Given the description of an element on the screen output the (x, y) to click on. 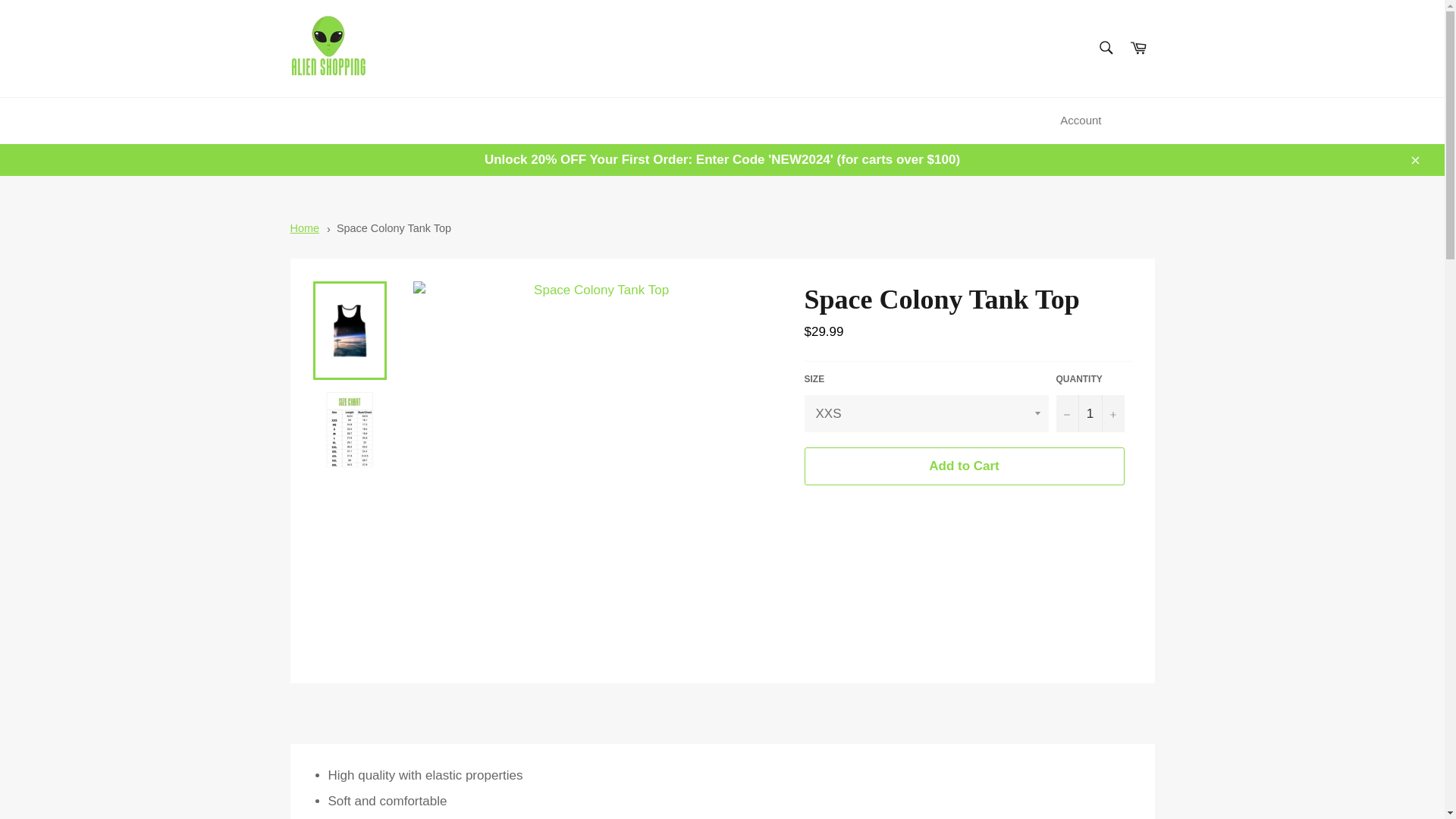
Search (1104, 47)
Account (1080, 120)
Home (303, 227)
1 (1089, 413)
Add to Cart (963, 465)
Close (1414, 159)
Home (303, 227)
Space Colony Tank Top (393, 227)
Cart (1138, 48)
